Given the description of an element on the screen output the (x, y) to click on. 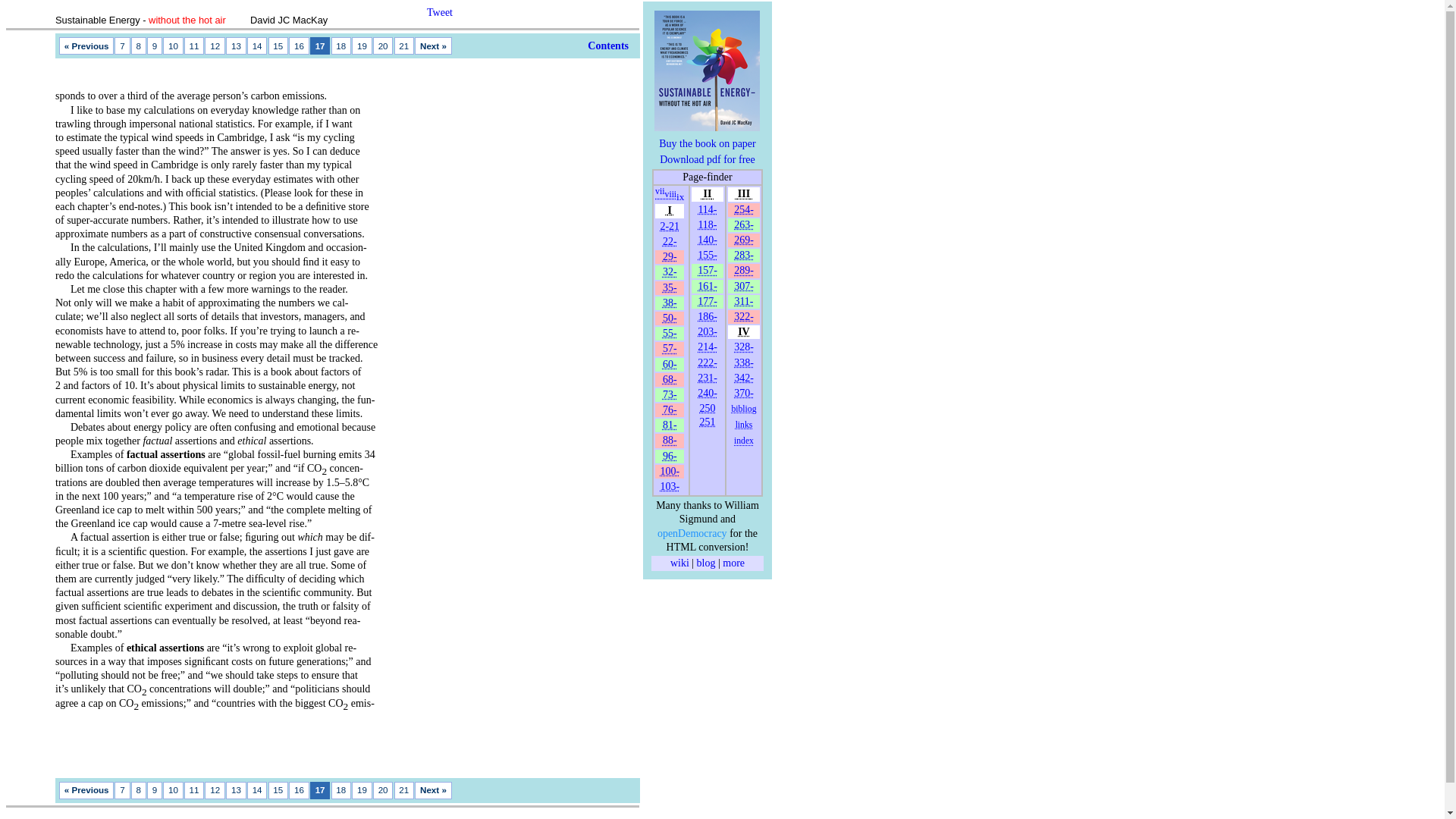
Go to page 10 (173, 45)
19 (362, 45)
Download pdf for free (707, 159)
Go to Next Page (432, 45)
viii (671, 193)
Go to Previous Page (86, 45)
7 (122, 45)
50- (669, 317)
Go to page 16 (298, 45)
14 (257, 45)
Dedication (660, 193)
Go to page 21 (404, 45)
29- (669, 256)
38- (669, 302)
